Given the description of an element on the screen output the (x, y) to click on. 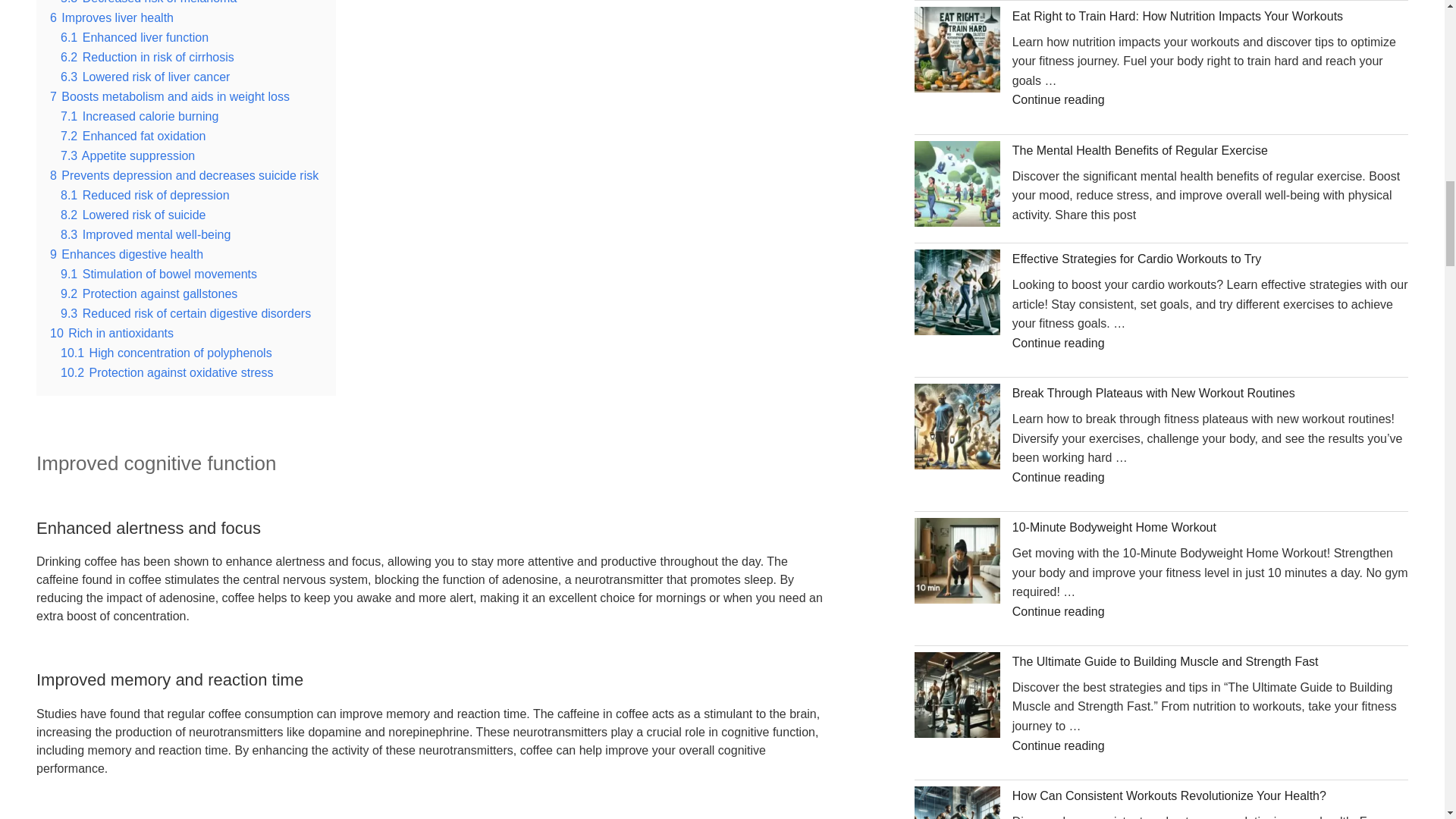
6.3 Lowered risk of liver cancer (145, 76)
7 Boosts metabolism and aids in weight loss (169, 96)
5.3 Decreased risk of melanoma (148, 2)
6.2 Reduction in risk of cirrhosis (147, 56)
6.1 Enhanced liver function (134, 37)
6 Improves liver health (111, 17)
7.1 Increased calorie burning (139, 115)
